Given the description of an element on the screen output the (x, y) to click on. 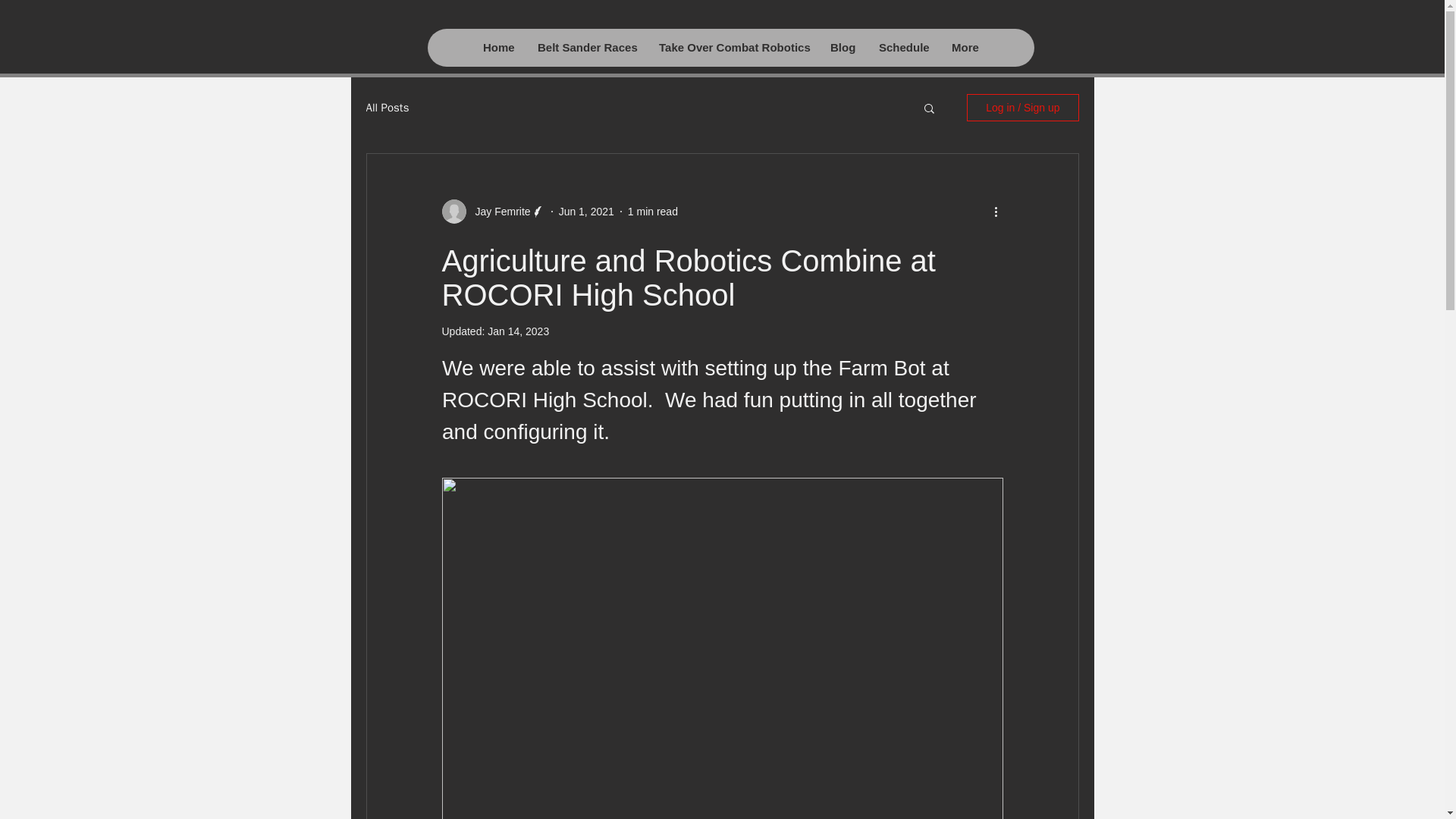
Blog (842, 47)
Jay Femrite (497, 211)
Schedule (902, 47)
All Posts (387, 106)
Home (497, 47)
Belt Sander Races (585, 47)
Take Over Combat Robotics (732, 47)
1 min read (652, 210)
Jun 1, 2021 (586, 210)
Jan 14, 2023 (517, 331)
